Given the description of an element on the screen output the (x, y) to click on. 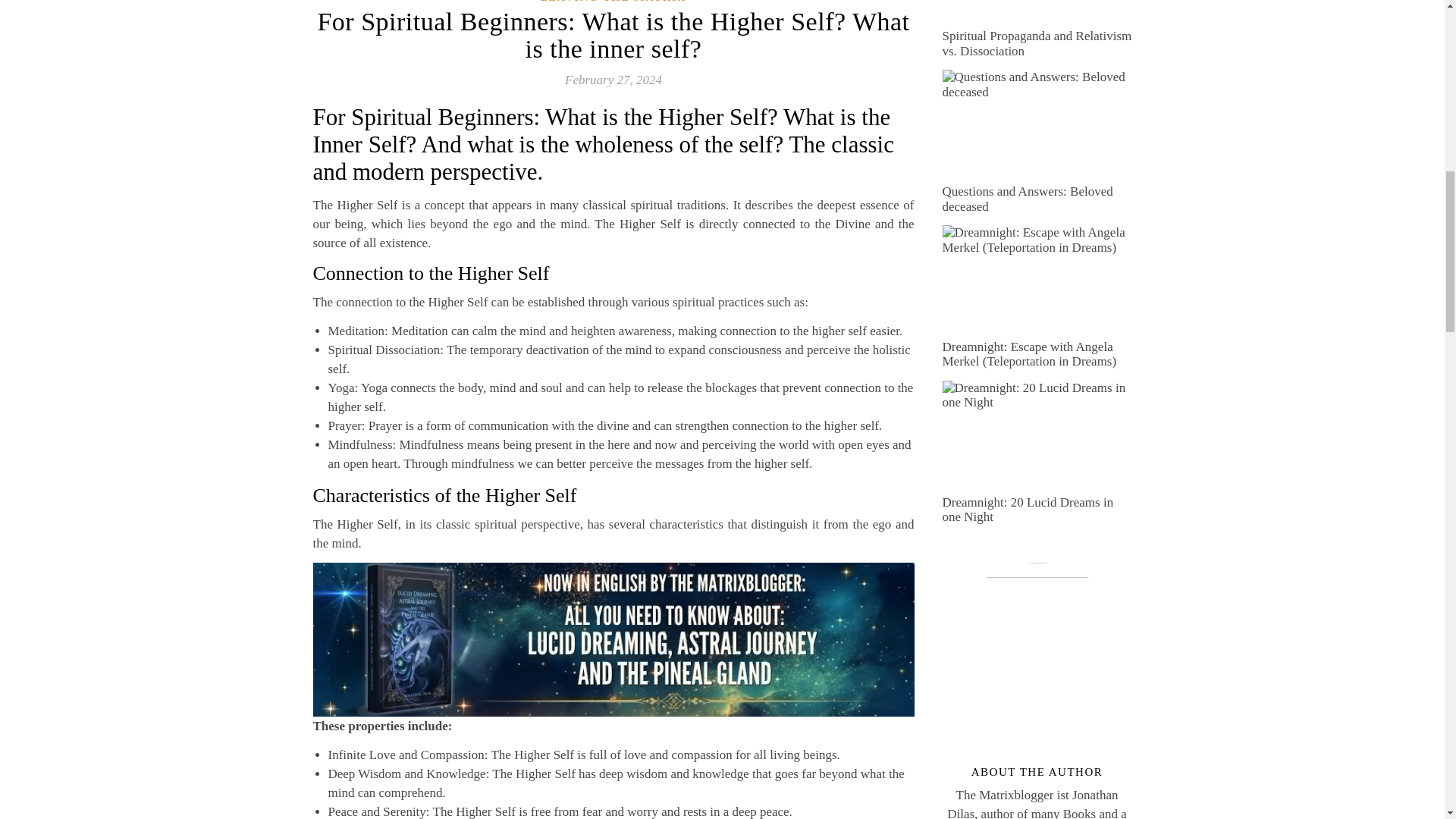
LEAVING THE MATRIX (612, 1)
